Given the description of an element on the screen output the (x, y) to click on. 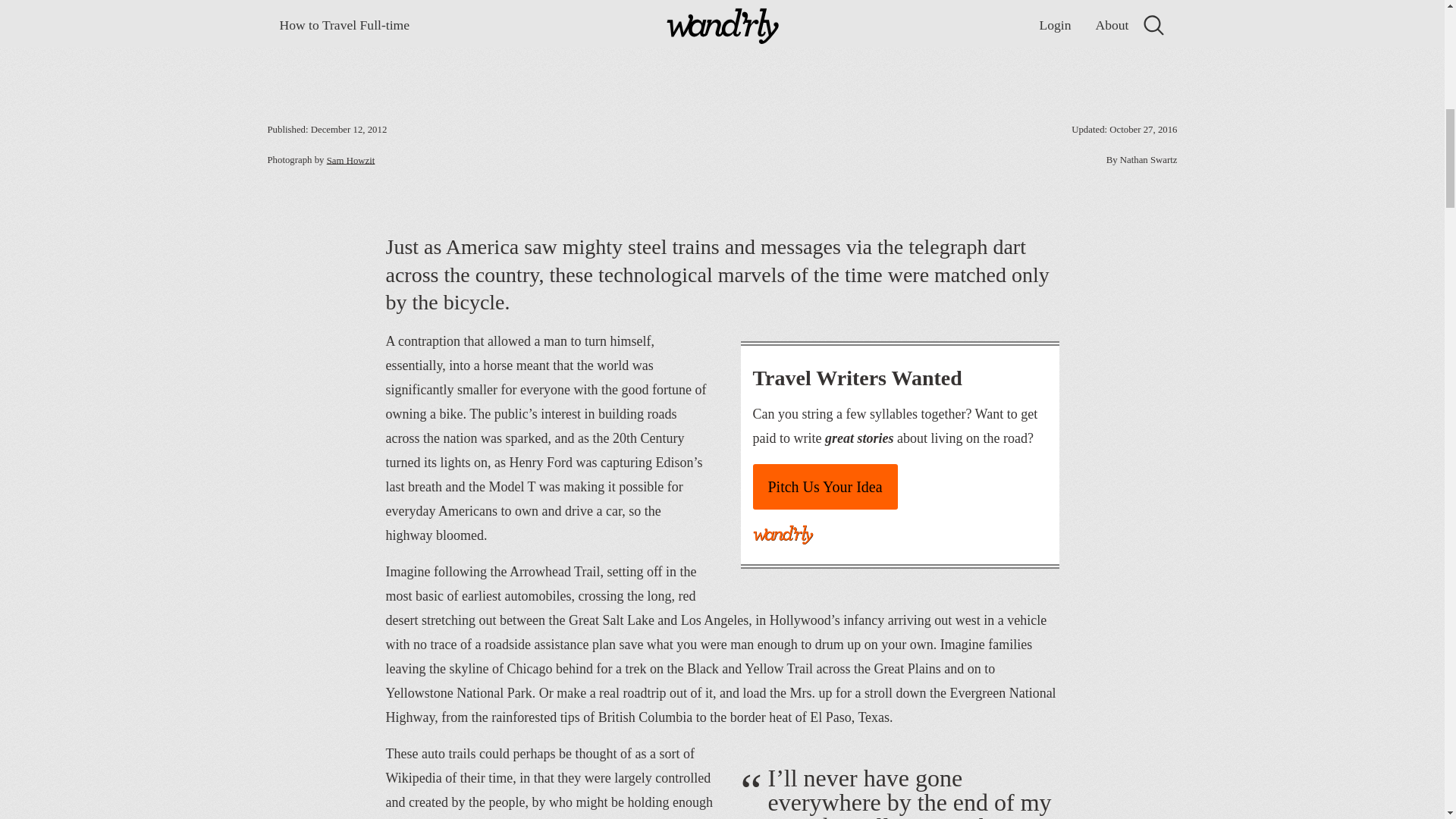
Sam Howzit (350, 160)
Pitch Us Your Idea (824, 486)
